Given the description of an element on the screen output the (x, y) to click on. 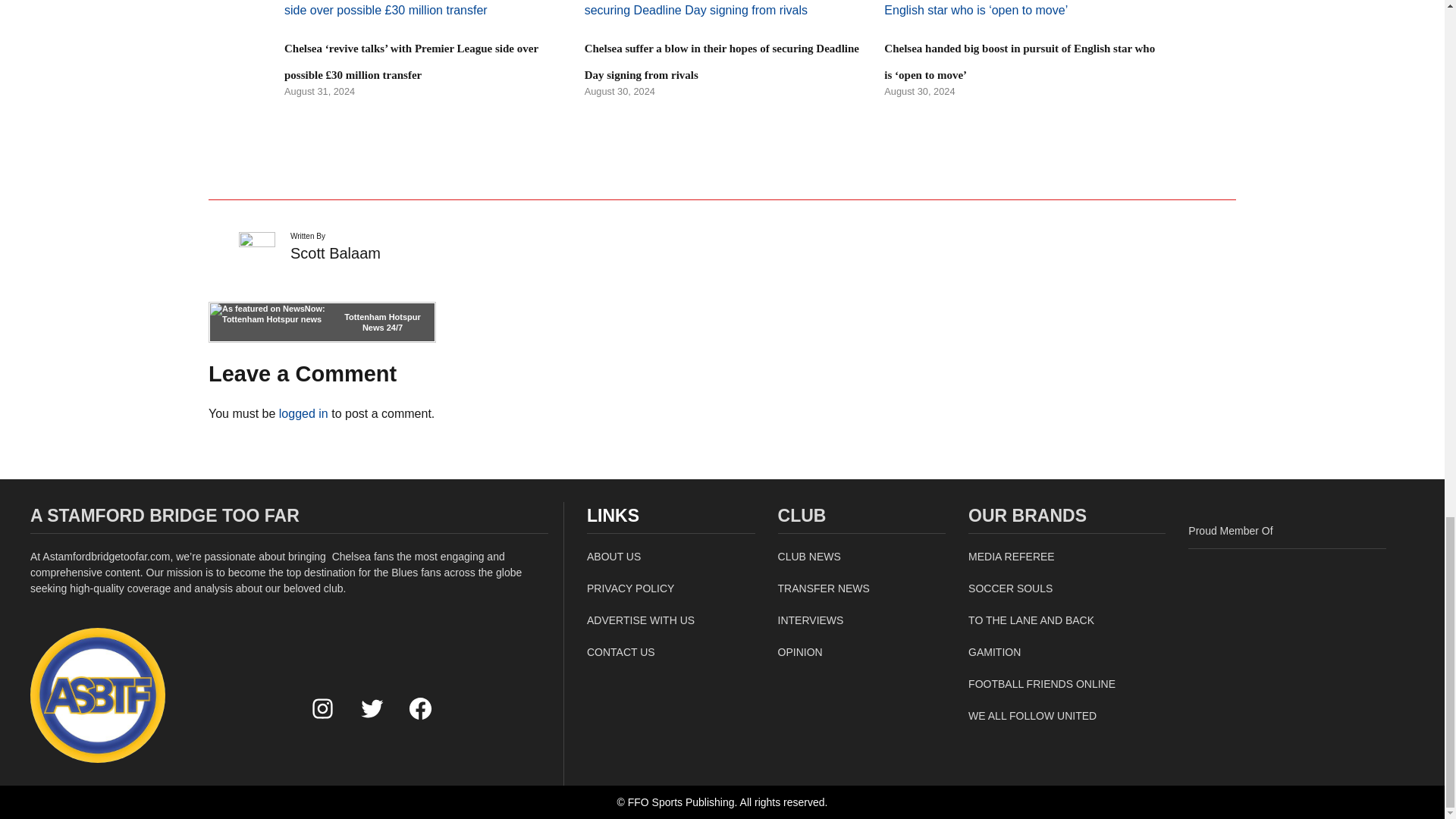
7:33 pm (620, 91)
1:20 am (319, 91)
chelsea logo (97, 695)
Click here for more Tottenham Hotspur news from NewsNow (321, 322)
3:36 pm (919, 91)
